Given the description of an element on the screen output the (x, y) to click on. 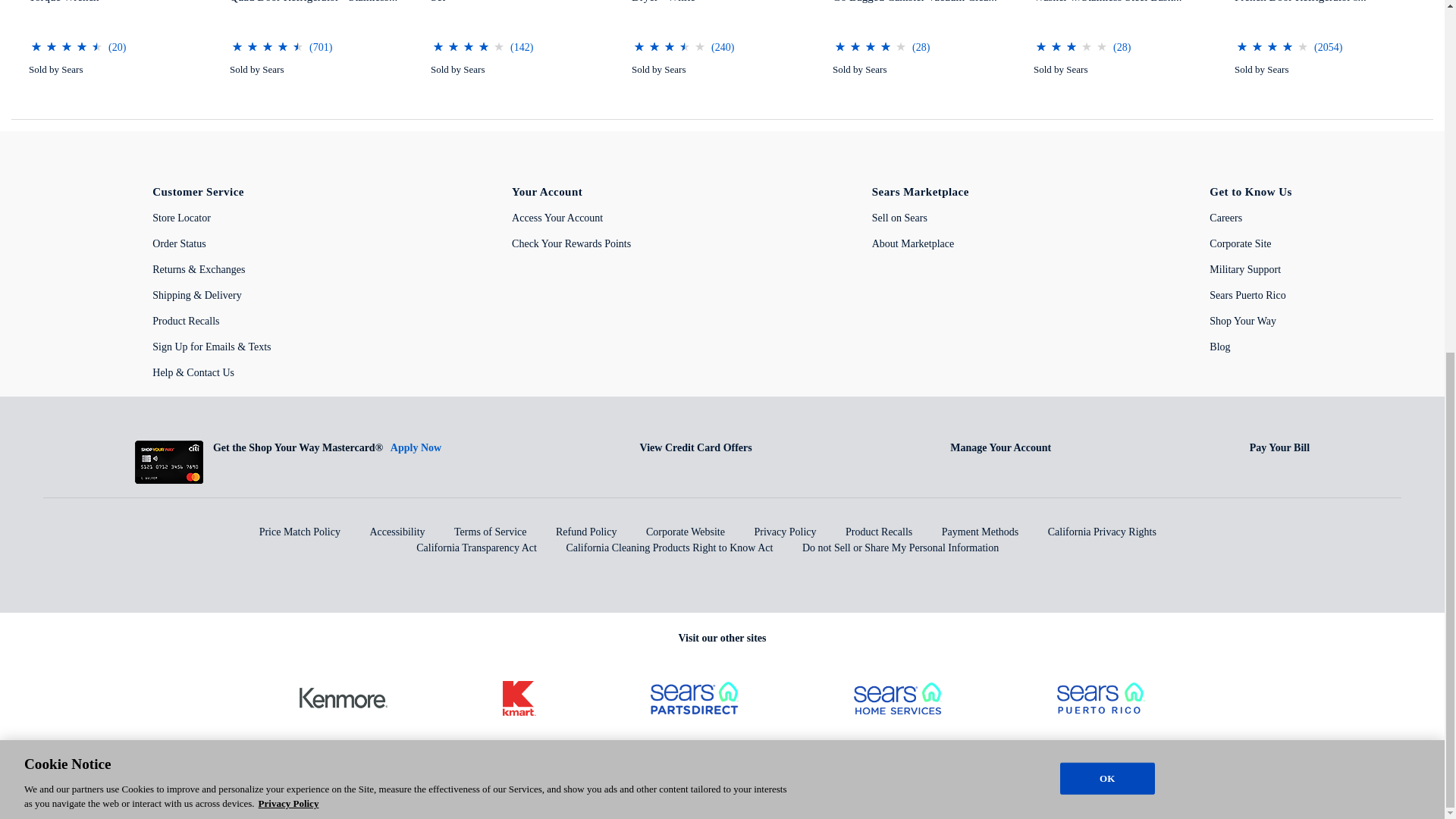
Apply Now (415, 447)
Customer Service (198, 191)
Your Account (547, 191)
Blog (1219, 346)
Shop Your Way (1242, 320)
Accessibility (397, 531)
Store Locator (181, 217)
Refund Policy (586, 531)
Corporate Website (685, 531)
Terms of Service (489, 531)
Sears Puerto Rico (1247, 295)
Product Recalls (185, 320)
Access Your Account (557, 217)
Order Status (178, 243)
